Given the description of an element on the screen output the (x, y) to click on. 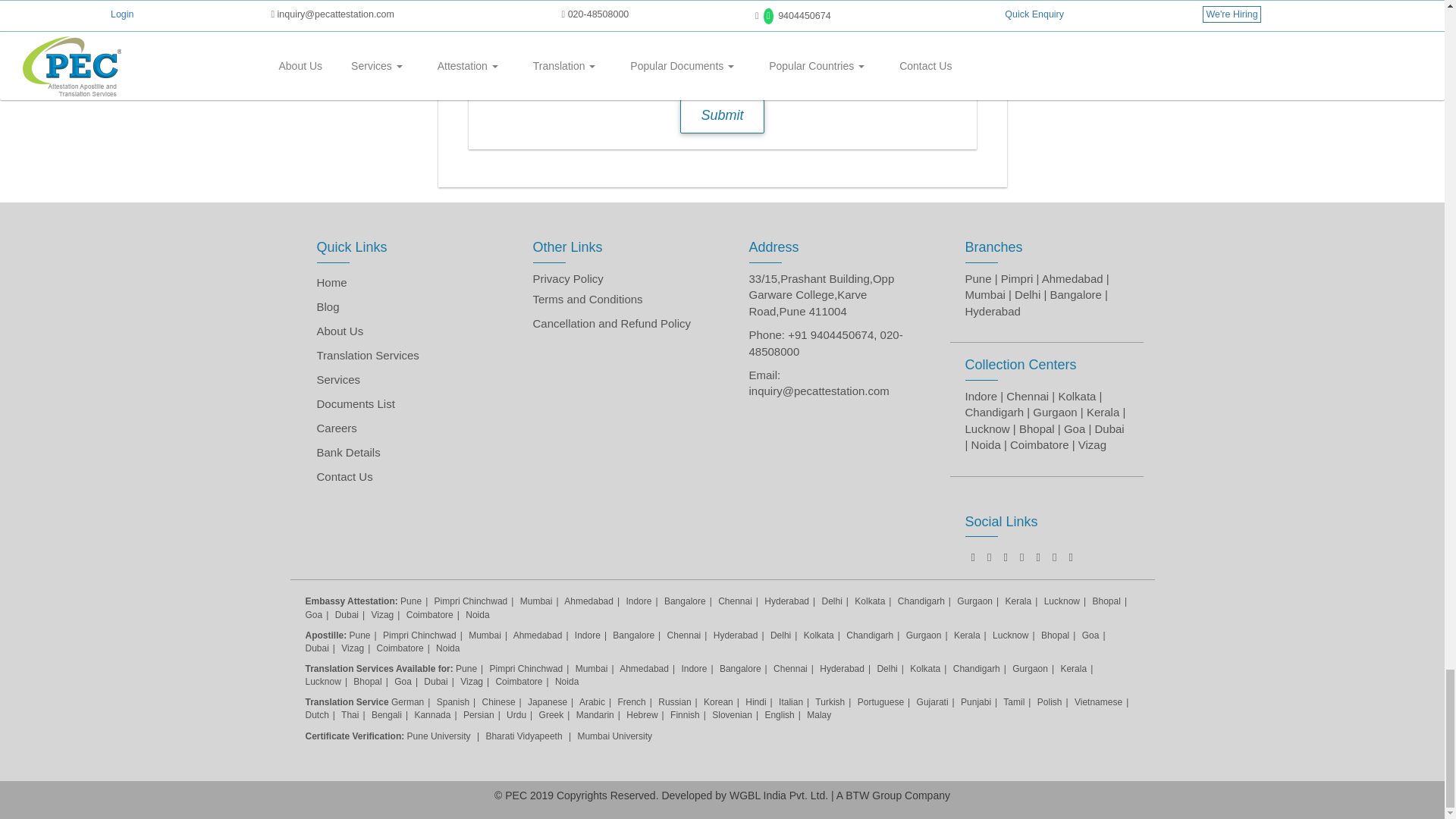
Home (332, 282)
About Us (340, 330)
Blog (328, 306)
